Given the description of an element on the screen output the (x, y) to click on. 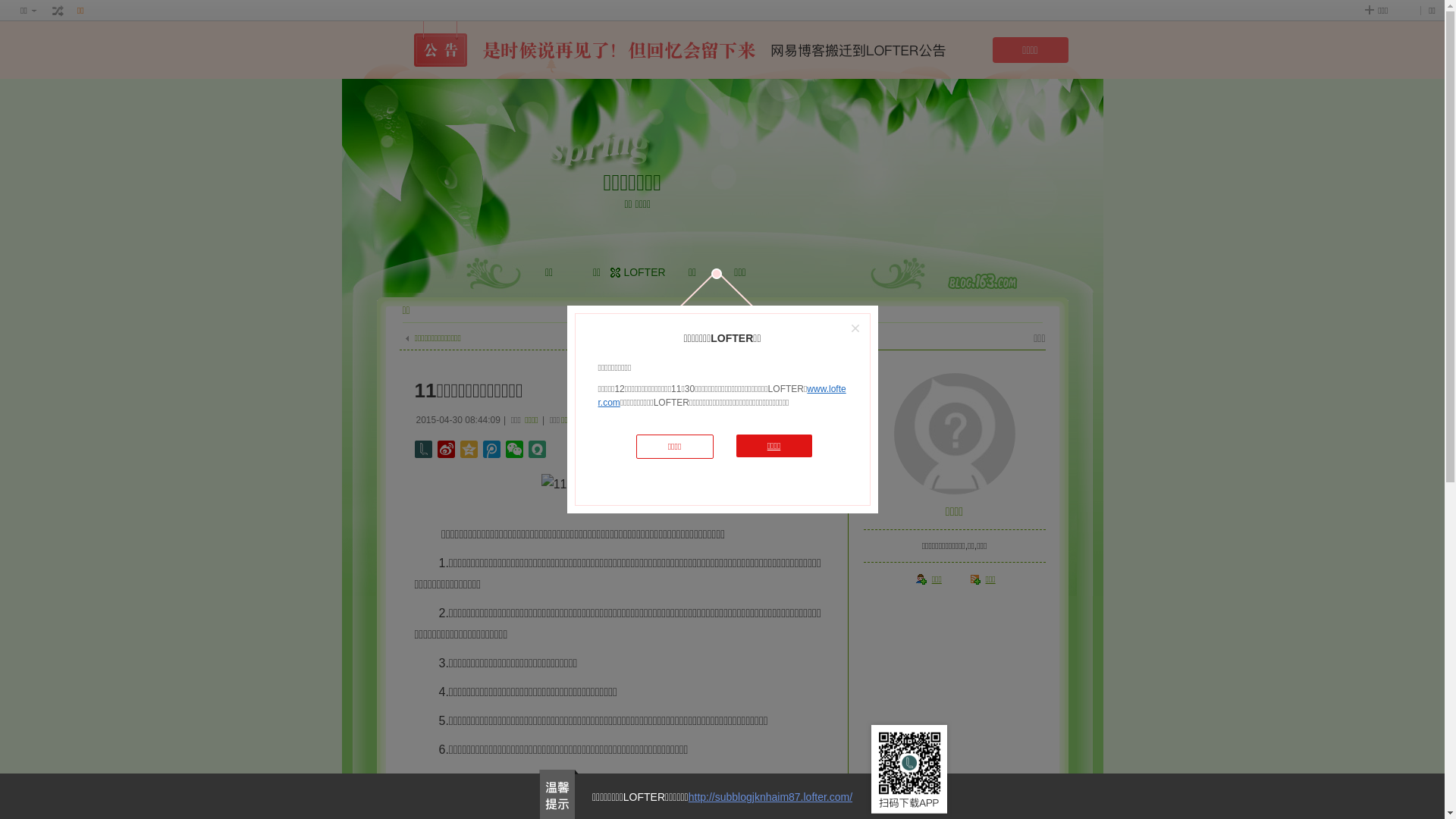
LOFTER Element type: text (644, 271)
http://subblogjknhaim87.lofter.com/ Element type: text (770, 796)
  Element type: text (58, 10)
www.lofter.com Element type: text (721, 395)
